Given the description of an element on the screen output the (x, y) to click on. 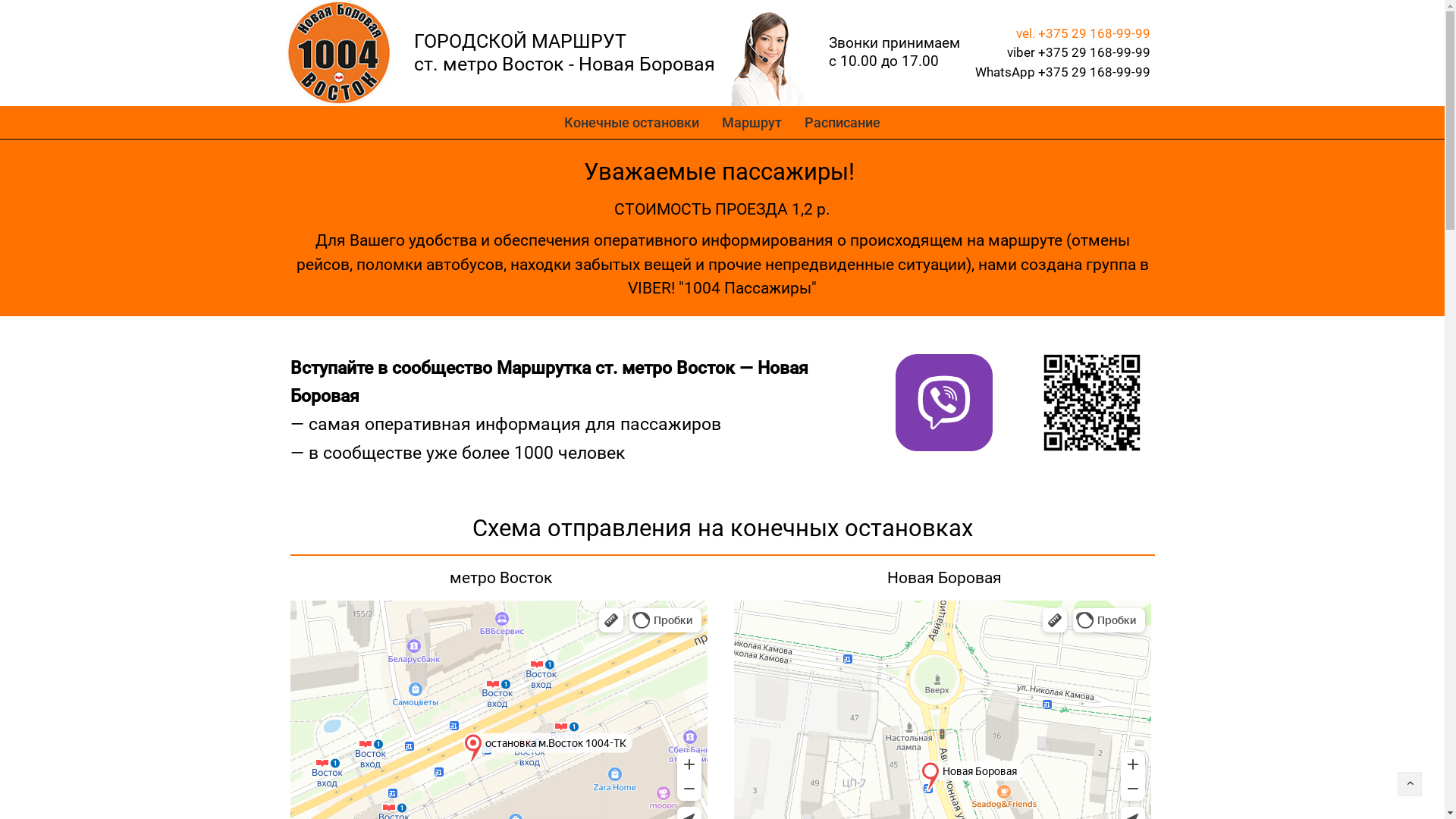
vel. +375 29 168-99-99 Element type: text (1083, 32)
